Given the description of an element on the screen output the (x, y) to click on. 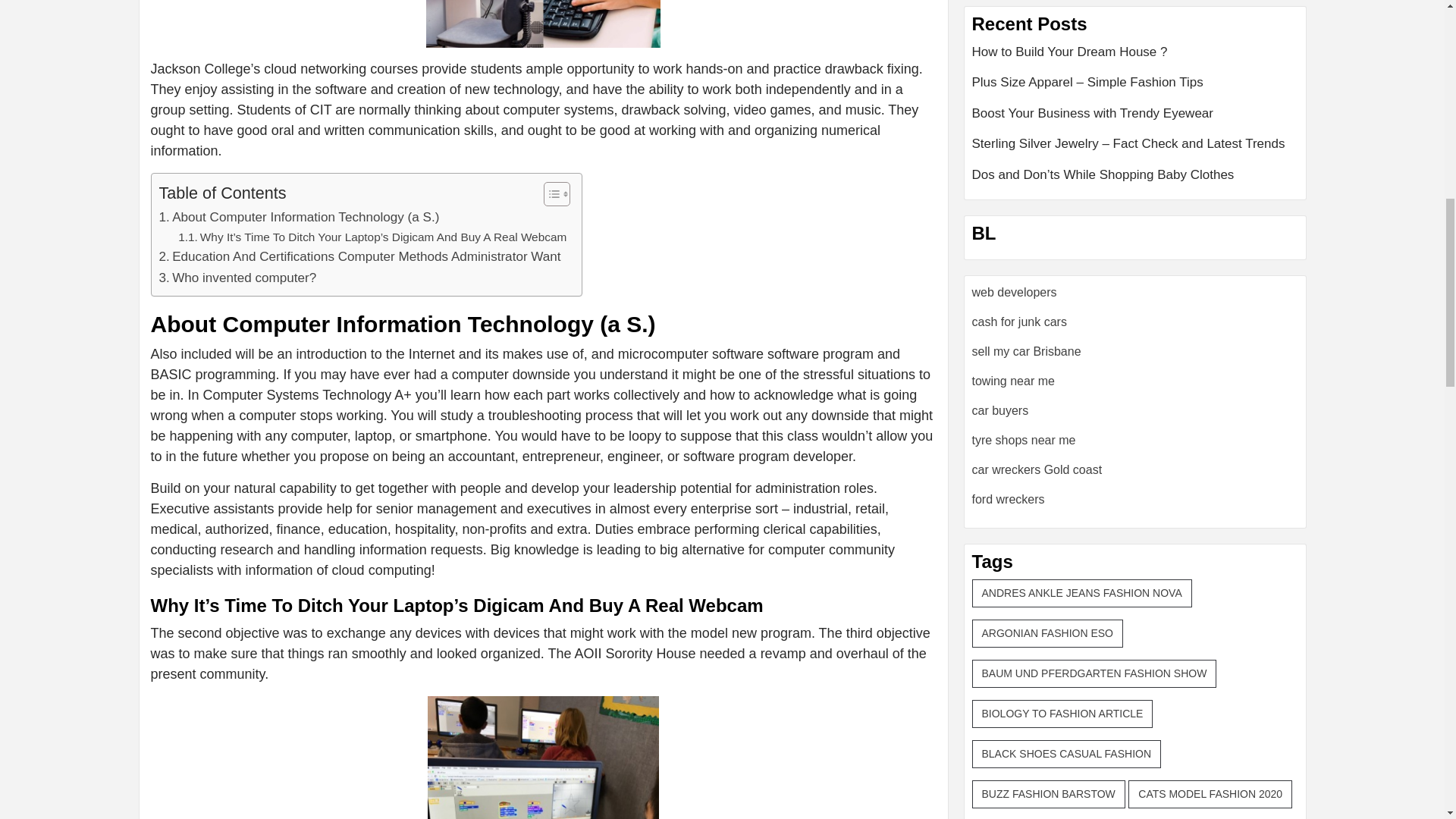
Who invented computer? (237, 277)
How to Build Your Dream House ? (1135, 57)
Who invented computer? (237, 277)
Boost Your Business with Trendy Eyewear (1135, 119)
